Given the description of an element on the screen output the (x, y) to click on. 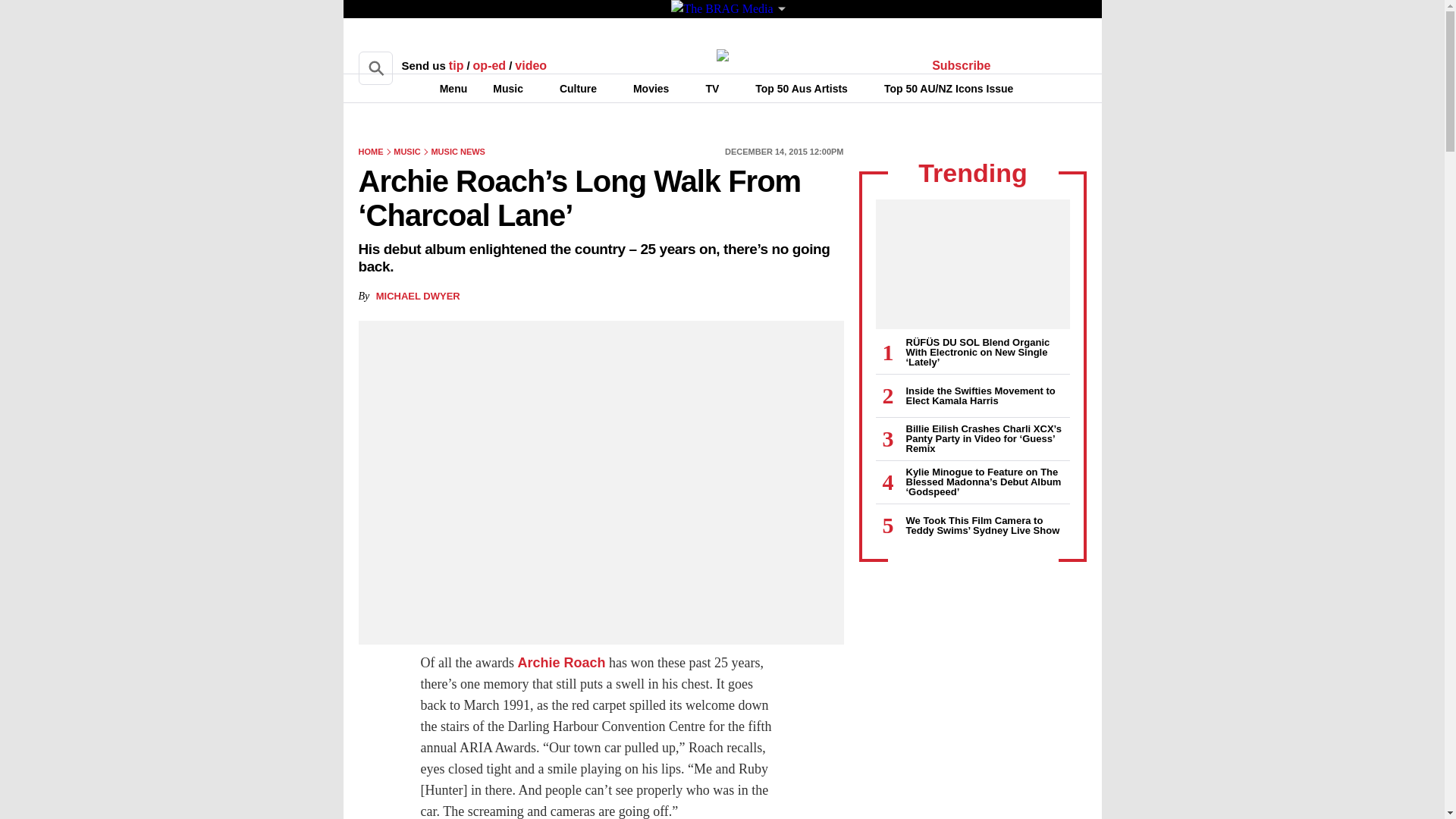
Subscribe (961, 65)
Search (374, 68)
op-ed (489, 65)
video (531, 65)
tip (456, 65)
Search (374, 68)
Menu (444, 87)
Rolling Stone Australia (722, 54)
